Given the description of an element on the screen output the (x, y) to click on. 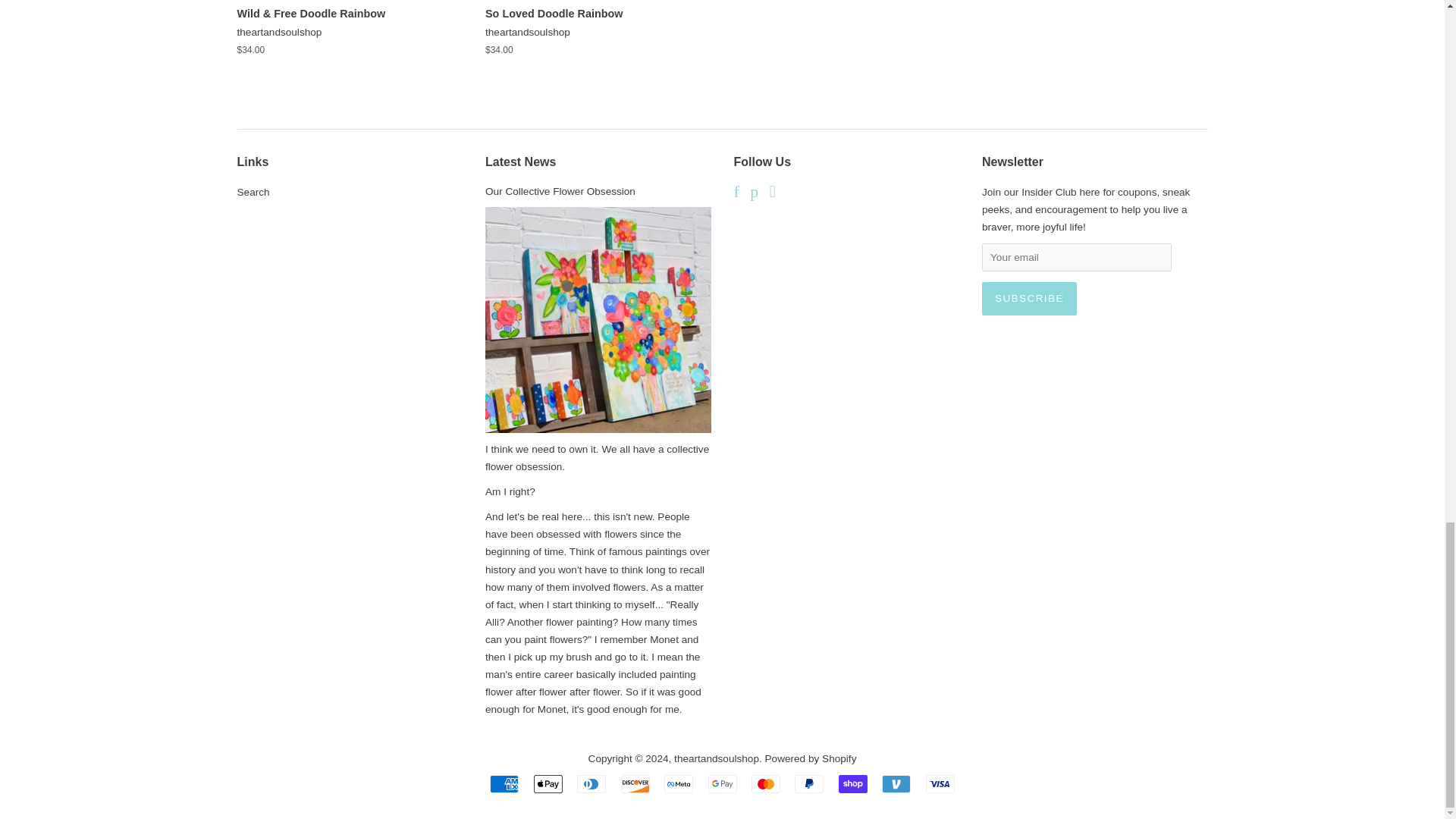
Visa (940, 783)
Shop Pay (852, 783)
American Express (503, 783)
Apple Pay (548, 783)
Mastercard (765, 783)
Venmo (896, 783)
Meta Pay (678, 783)
Discover (635, 783)
Subscribe (1029, 298)
Diners Club (590, 783)
PayPal (809, 783)
Google Pay (721, 783)
